Given the description of an element on the screen output the (x, y) to click on. 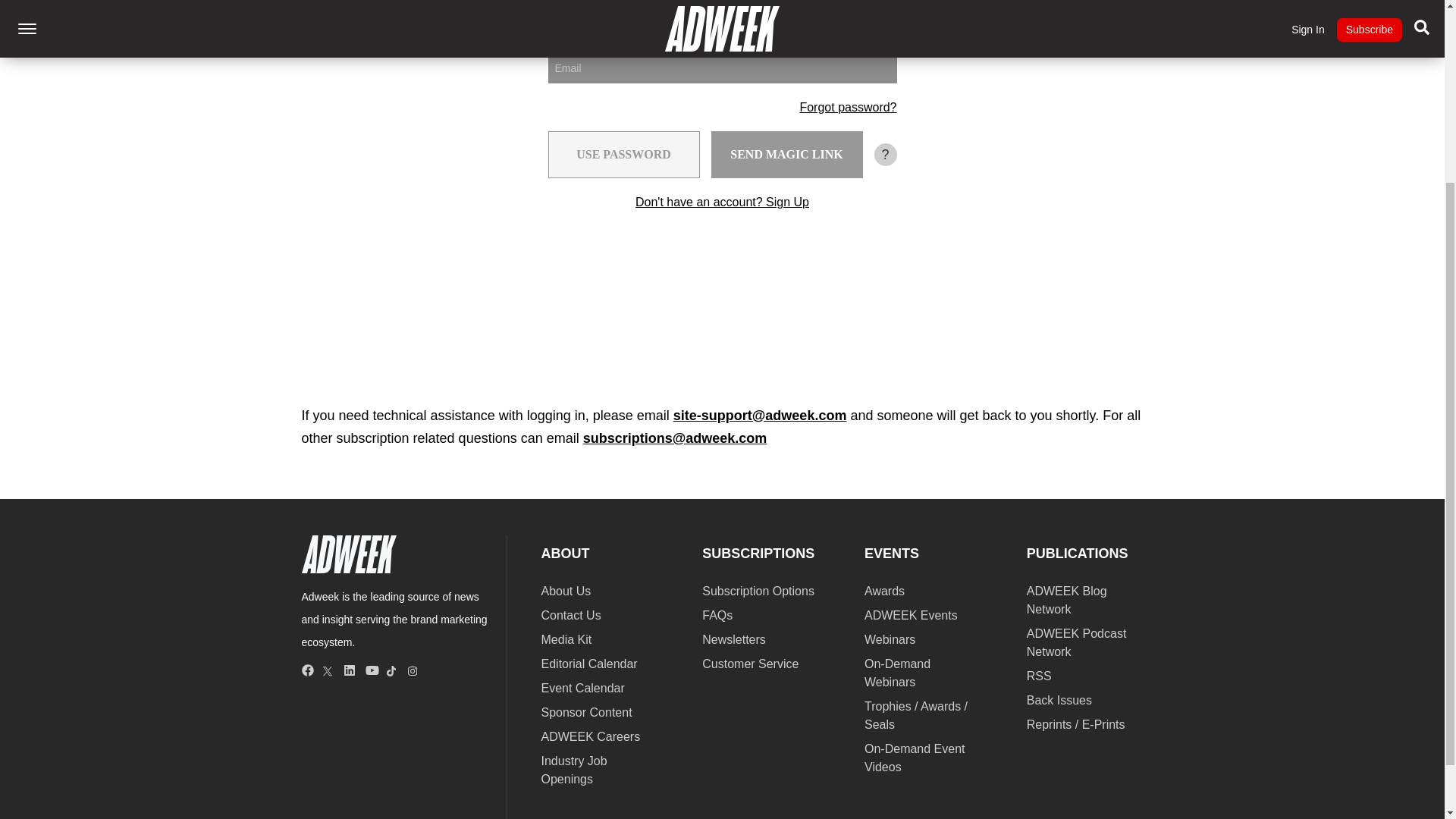
Media Kit (566, 639)
Industry Job Openings (574, 769)
SEND MAGIC LINK (787, 154)
Event Calendar (582, 687)
ADWEEK Careers (590, 736)
ABOUT (565, 553)
About Us (566, 590)
USE PASSWORD (622, 154)
Sponsor Content (586, 712)
Don't have an account? Sign Up (721, 201)
